Given the description of an element on the screen output the (x, y) to click on. 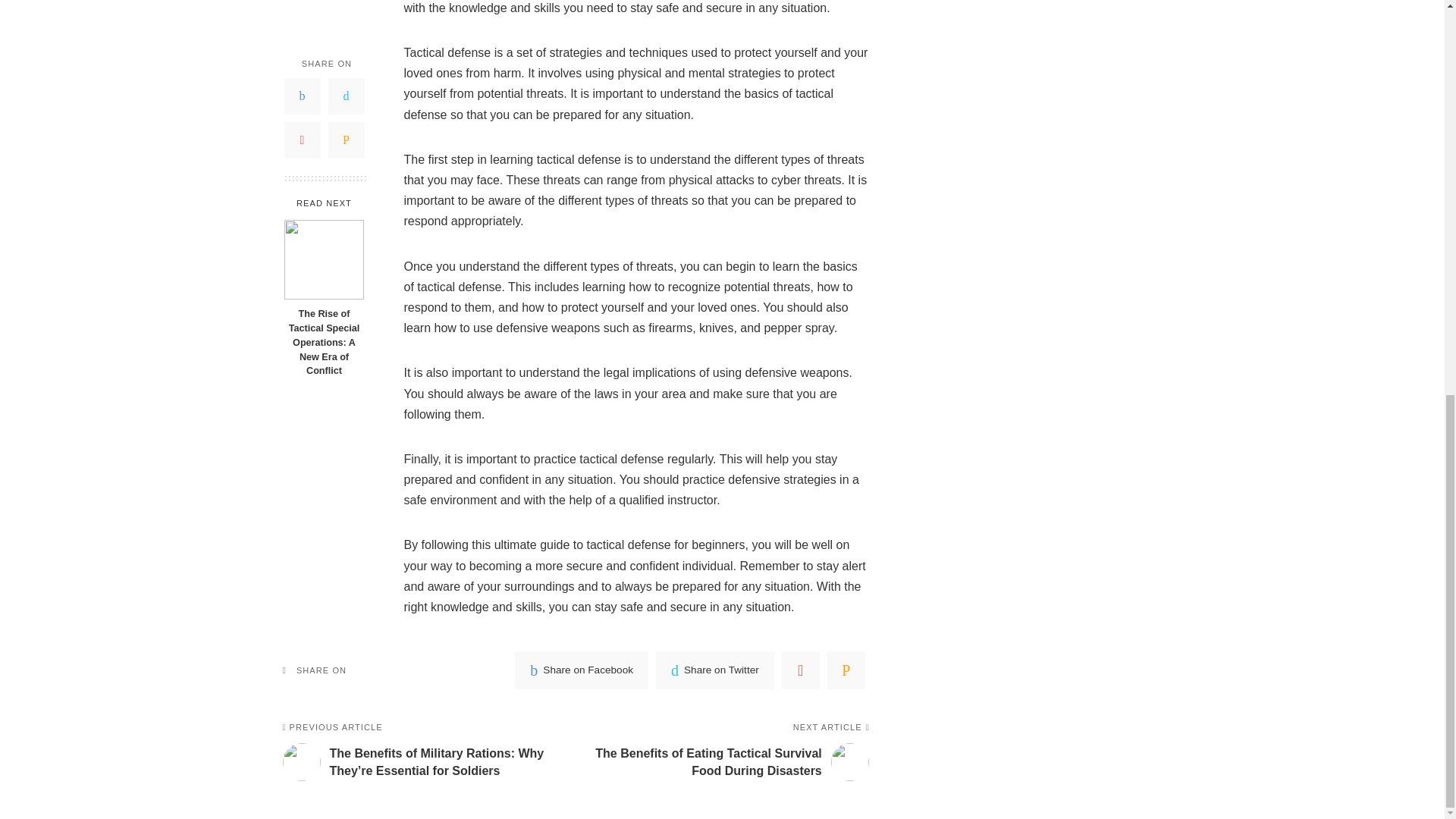
Facebook (581, 670)
Pinterest (301, 40)
Twitter (715, 670)
Facebook (301, 7)
Email (345, 40)
Twitter (345, 7)
